Given the description of an element on the screen output the (x, y) to click on. 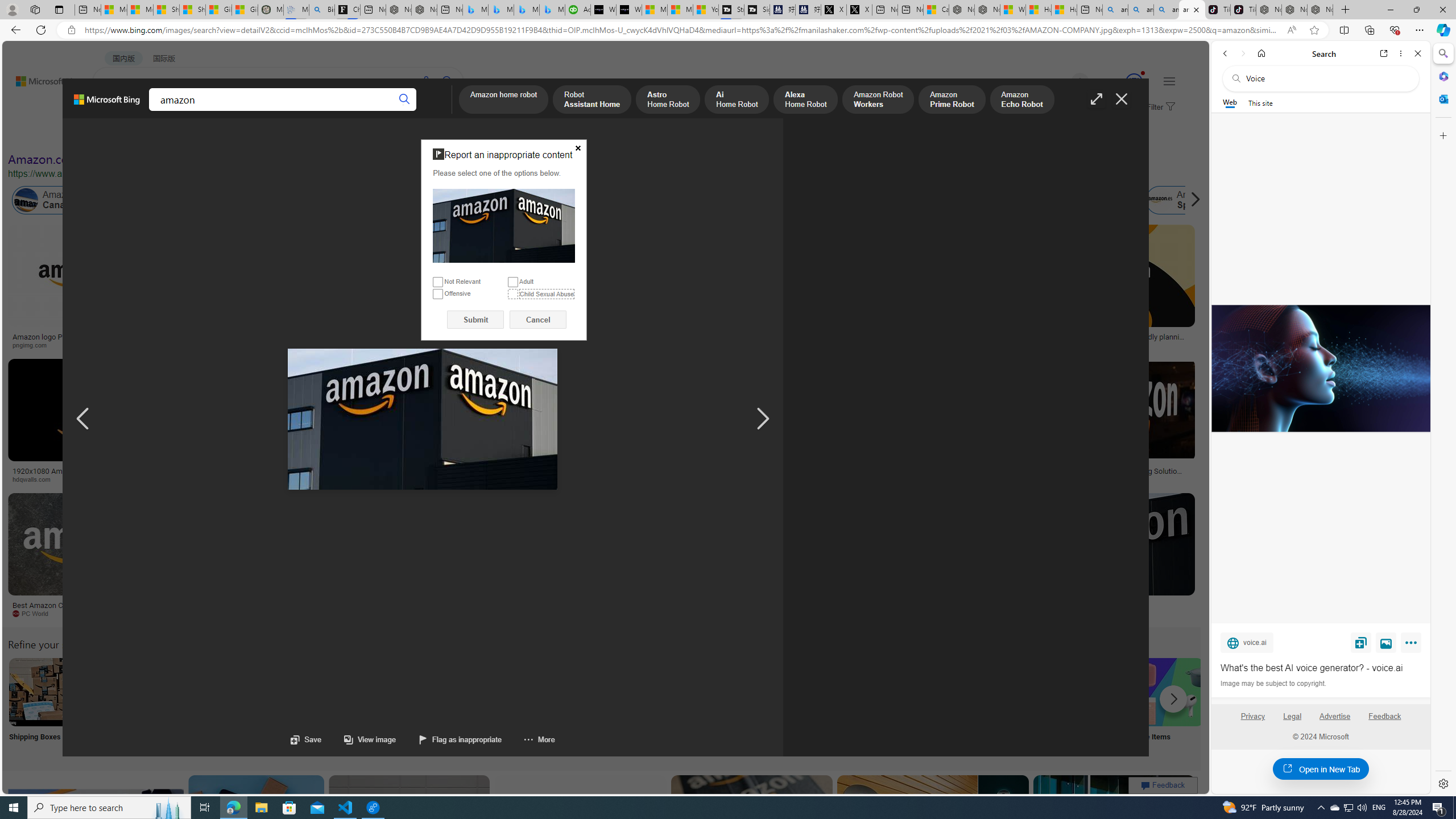
License (377, 135)
Search button (404, 99)
Marketplace (459, 479)
VIDEOS (260, 111)
Scroll right (1192, 199)
PC World (34, 612)
GOBankingRates (225, 479)
Dallas Morning News (749, 479)
Amazon Spain (1183, 199)
